Given the description of an element on the screen output the (x, y) to click on. 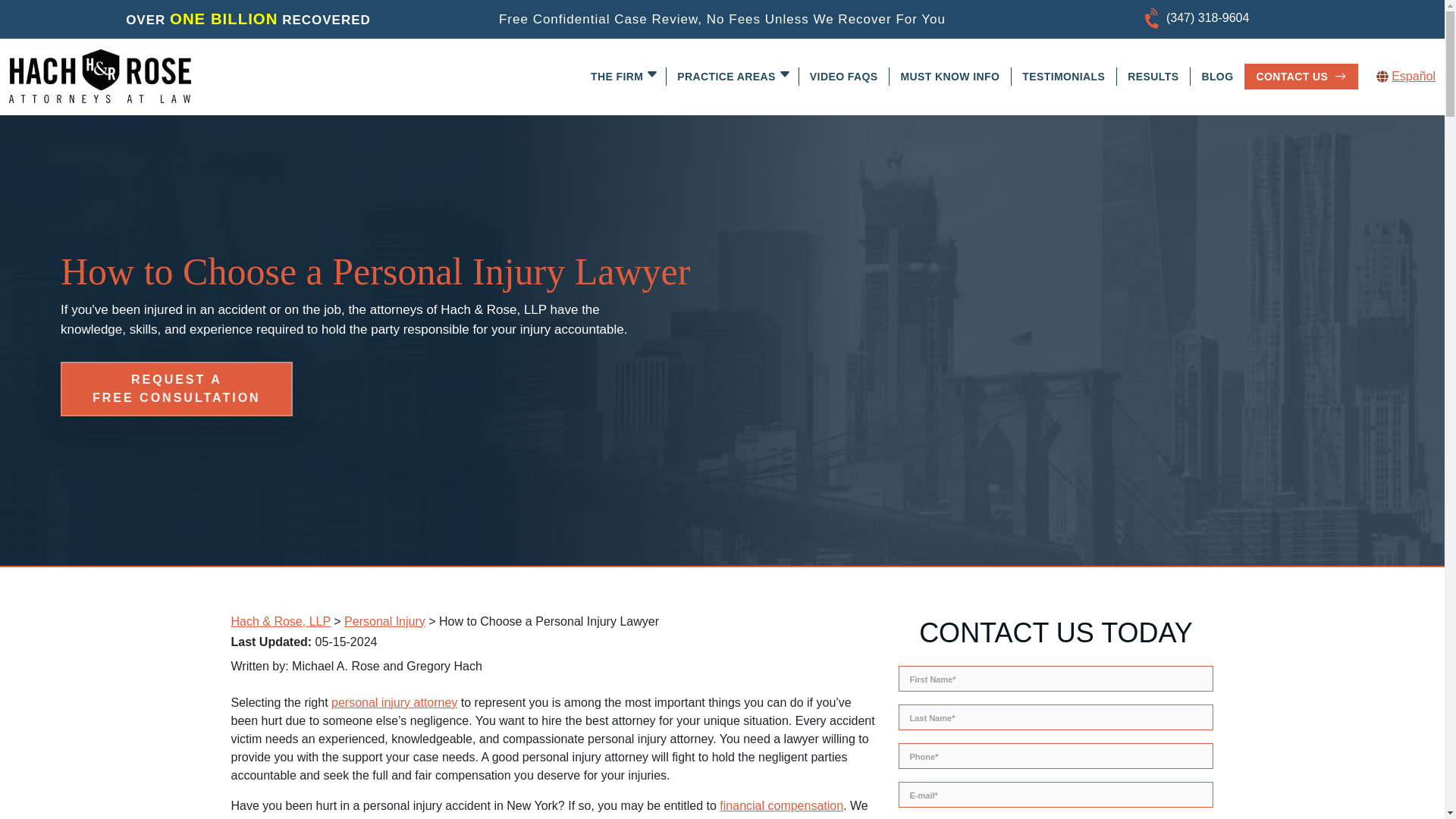
Go to the Personal Injury category archives. (384, 621)
